Given the description of an element on the screen output the (x, y) to click on. 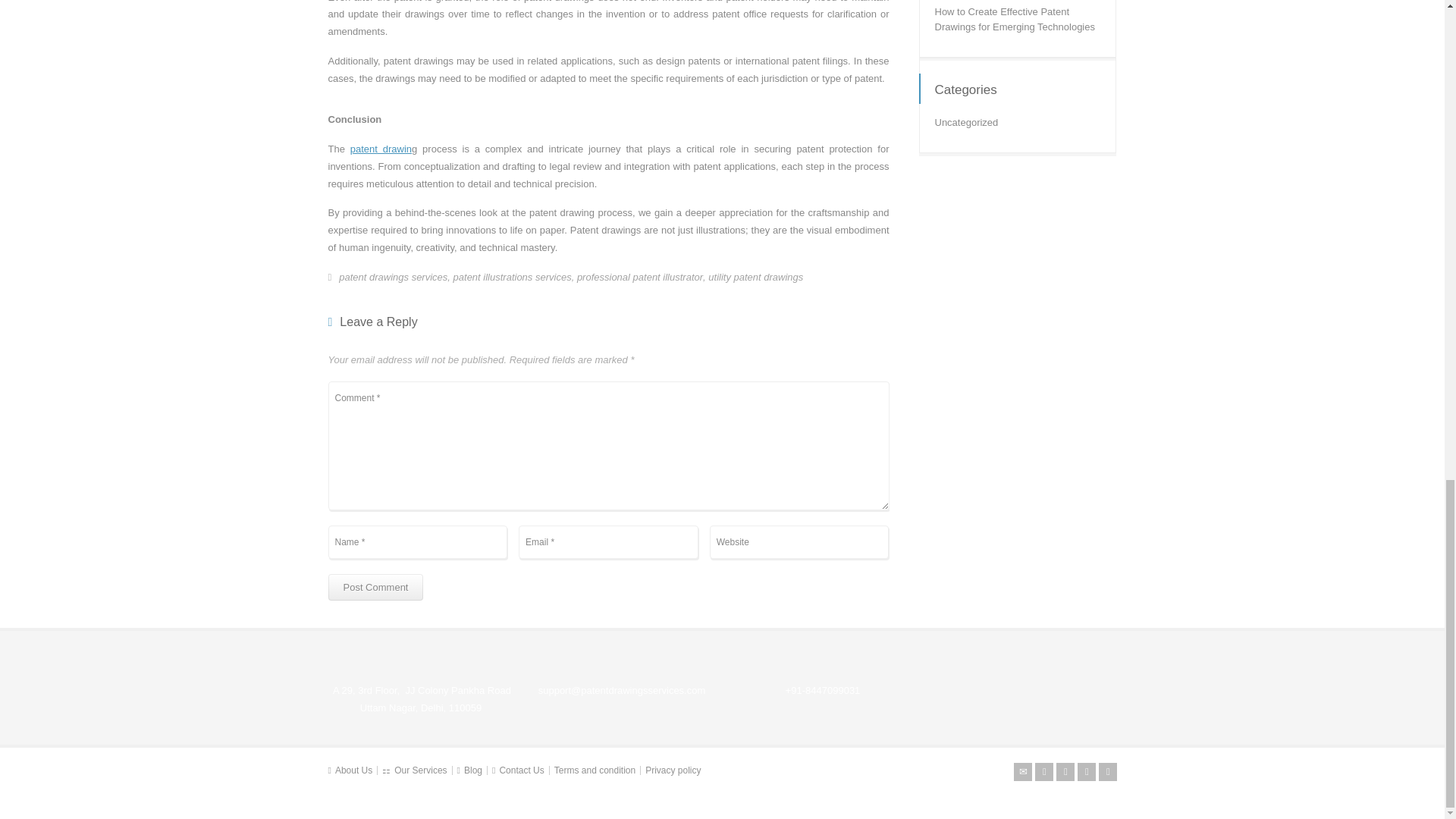
Facebook (1064, 771)
Website (799, 541)
patent drawin (381, 148)
patent illustrations services (512, 277)
Linkedin (1085, 771)
patent drawings services (392, 277)
professional patent illustrator (639, 277)
Uncategorized (965, 126)
Post Comment (375, 587)
Post Comment (375, 587)
utility patent drawings (755, 277)
Skype (1106, 771)
Email (1021, 771)
Twitter (1042, 771)
